Given the description of an element on the screen output the (x, y) to click on. 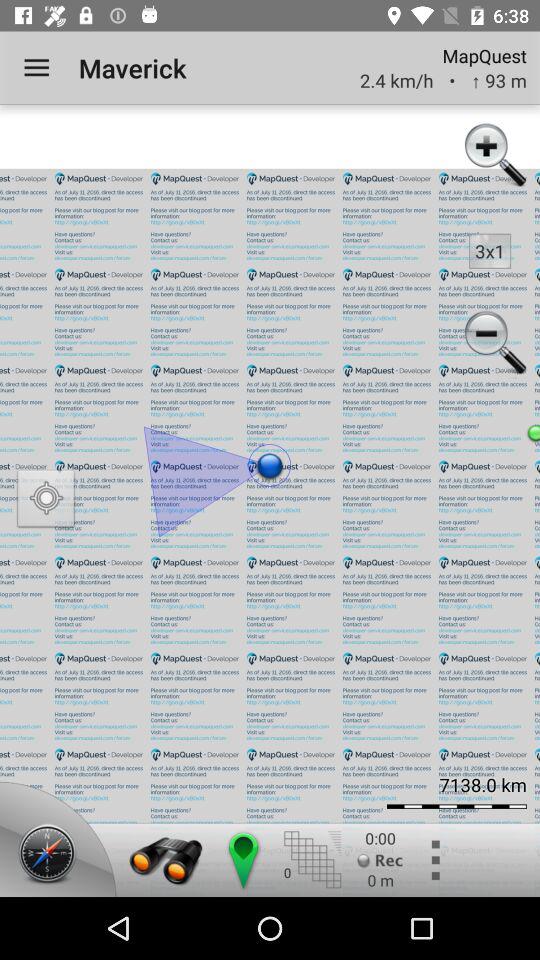
view tracking recording (380, 860)
